Given the description of an element on the screen output the (x, y) to click on. 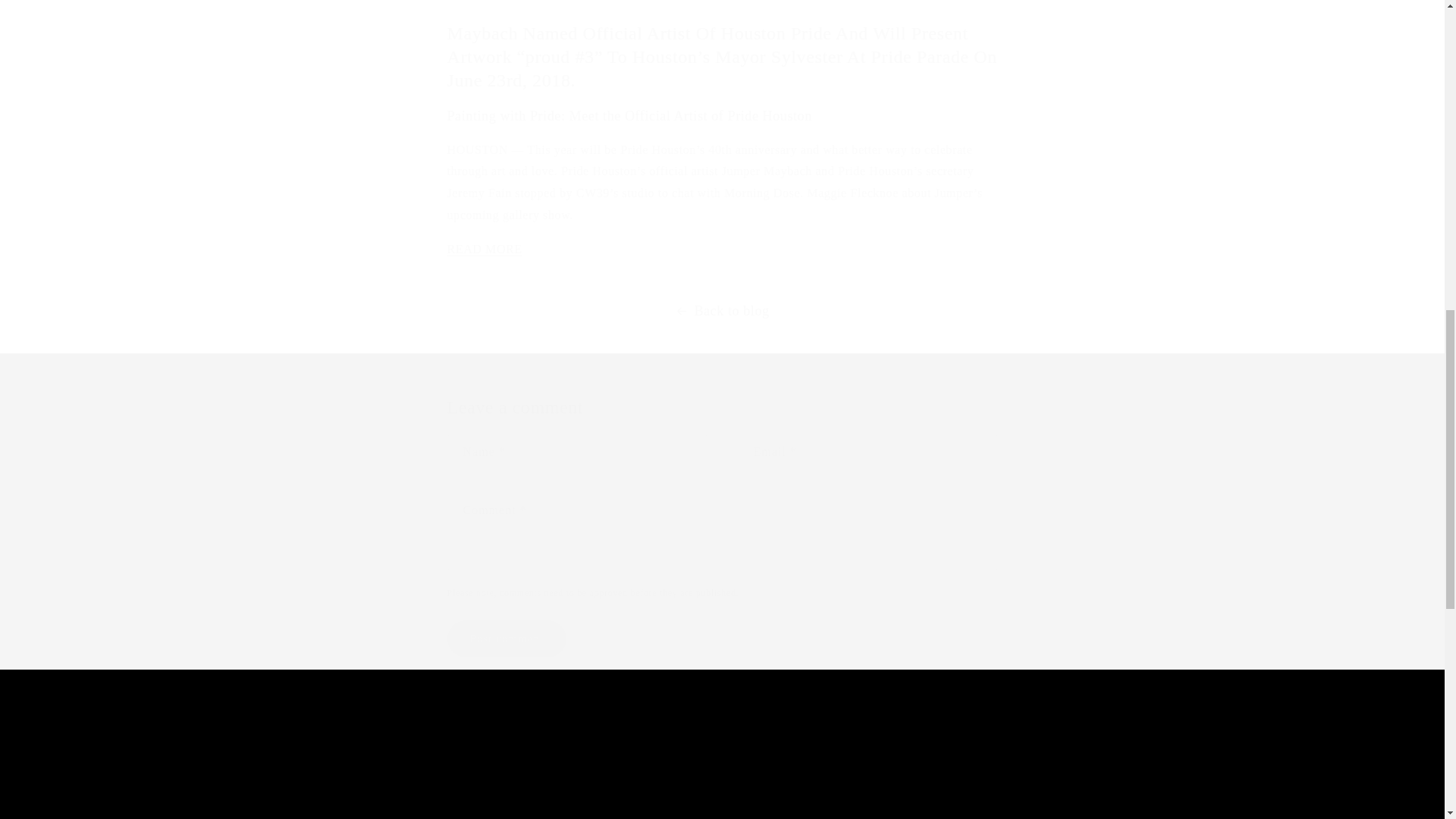
Post comment (721, 773)
Share (506, 638)
